Given the description of an element on the screen output the (x, y) to click on. 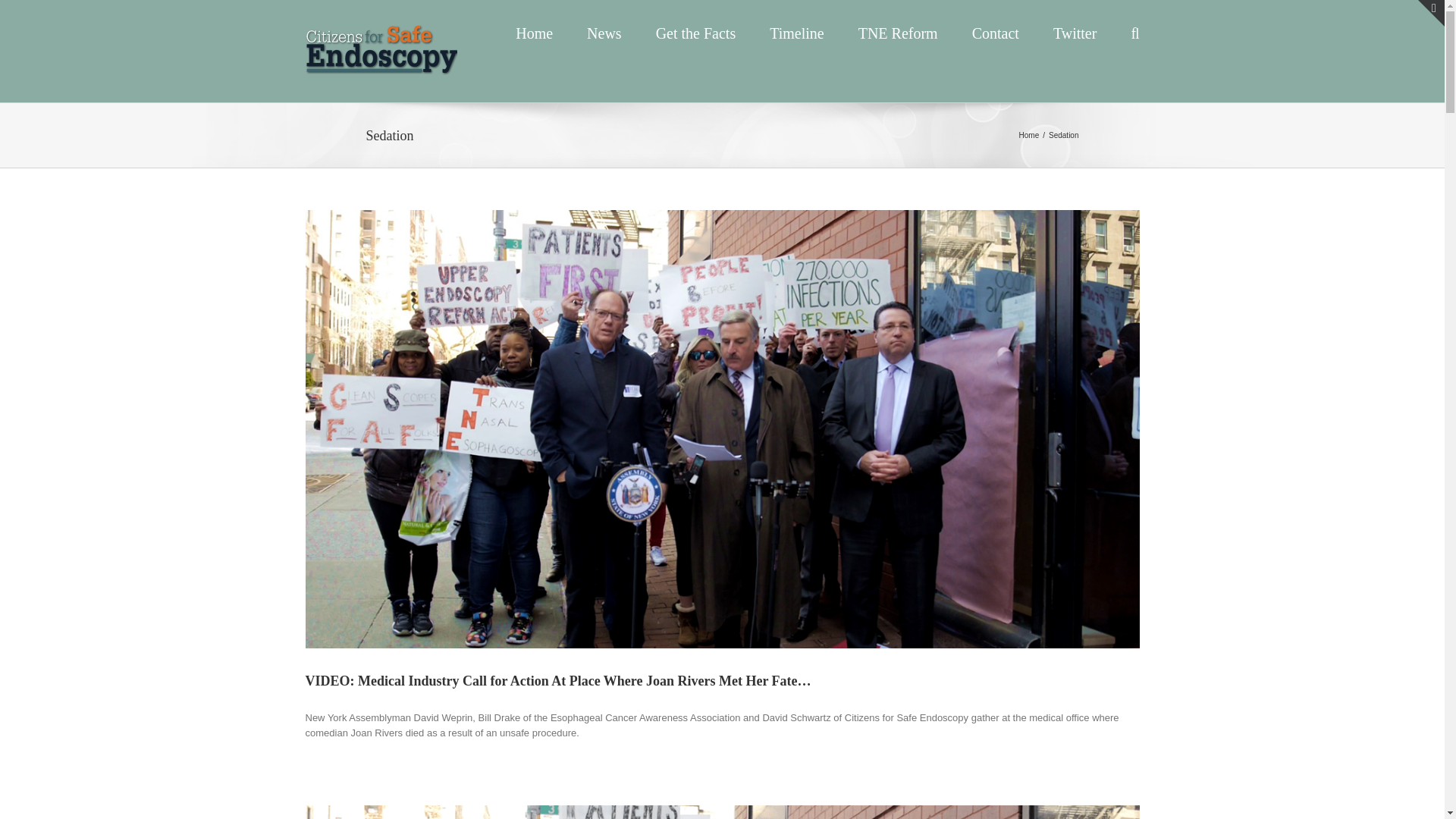
TNE Reform (898, 32)
Home (1029, 134)
Get the Facts (696, 32)
